Given the description of an element on the screen output the (x, y) to click on. 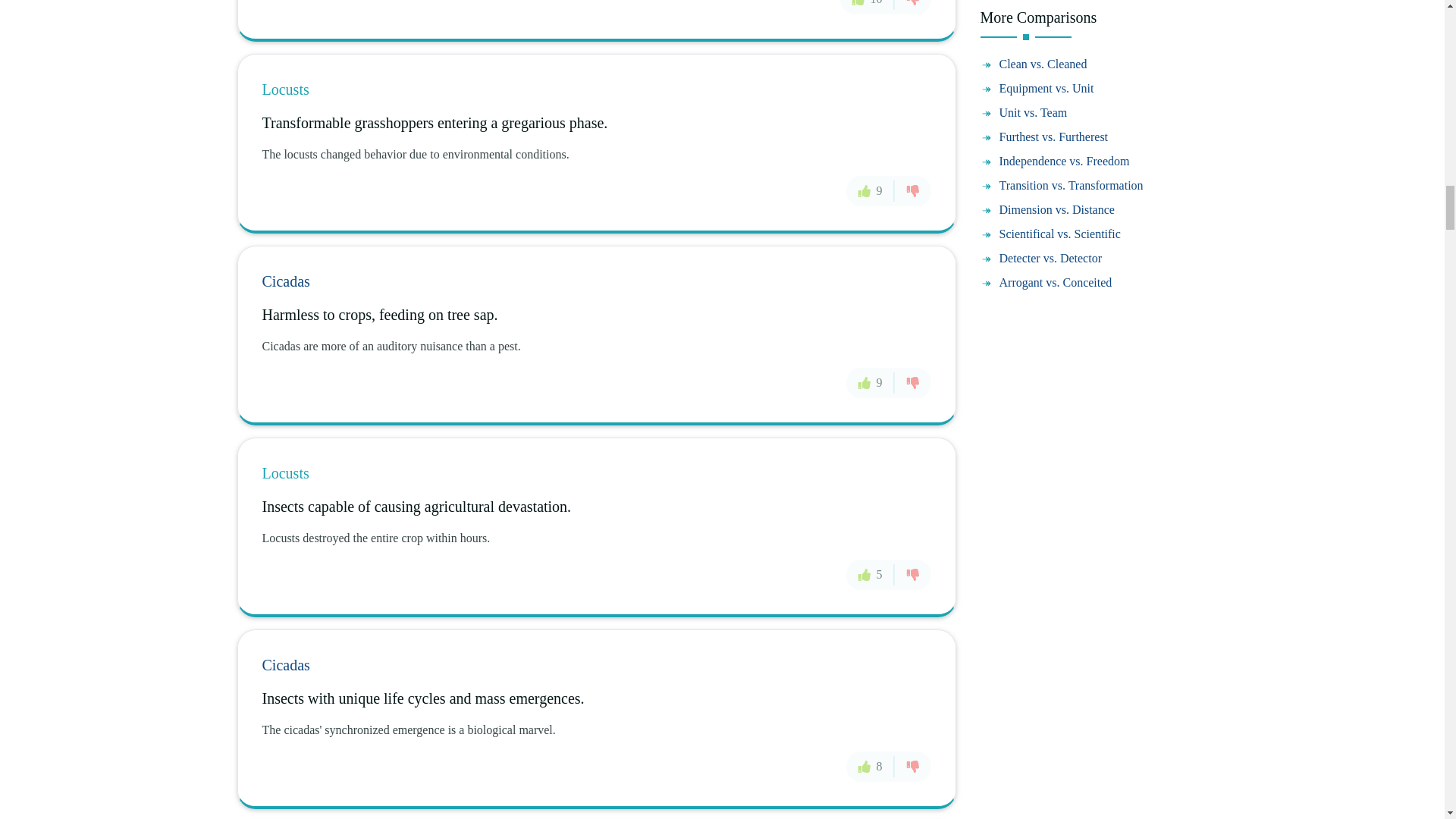
9 (870, 191)
10 (867, 6)
